Given the description of an element on the screen output the (x, y) to click on. 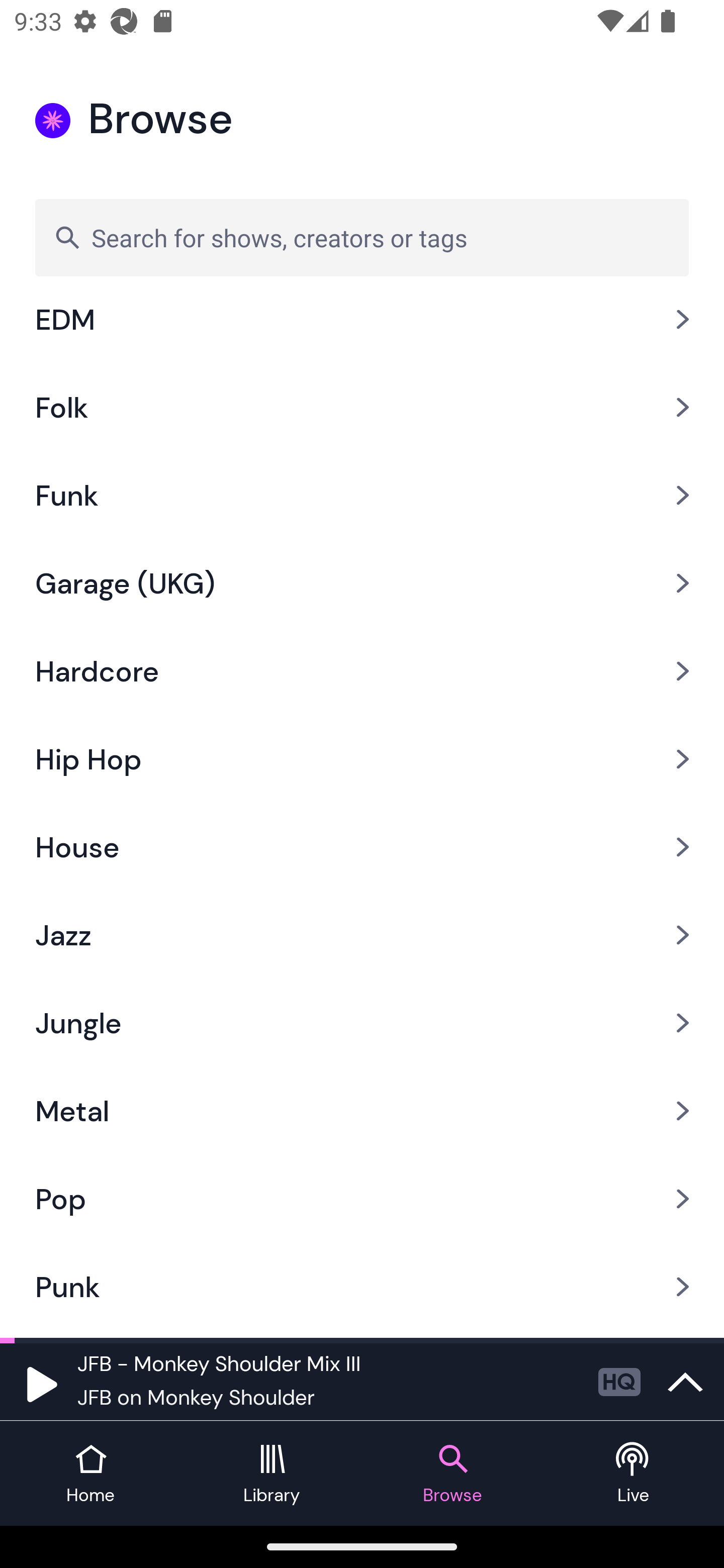
Search for shows, creators or tags (361, 237)
EDM (361, 332)
Folk (361, 407)
Funk (361, 495)
Garage (UKG) (361, 583)
Hardcore (361, 671)
Hip Hop (361, 758)
House (361, 846)
Jazz (361, 934)
Jungle (361, 1022)
Metal (361, 1110)
Pop (361, 1199)
Punk (361, 1287)
Home tab Home (90, 1473)
Library tab Library (271, 1473)
Browse tab Browse (452, 1473)
Live tab Live (633, 1473)
